Given the description of an element on the screen output the (x, y) to click on. 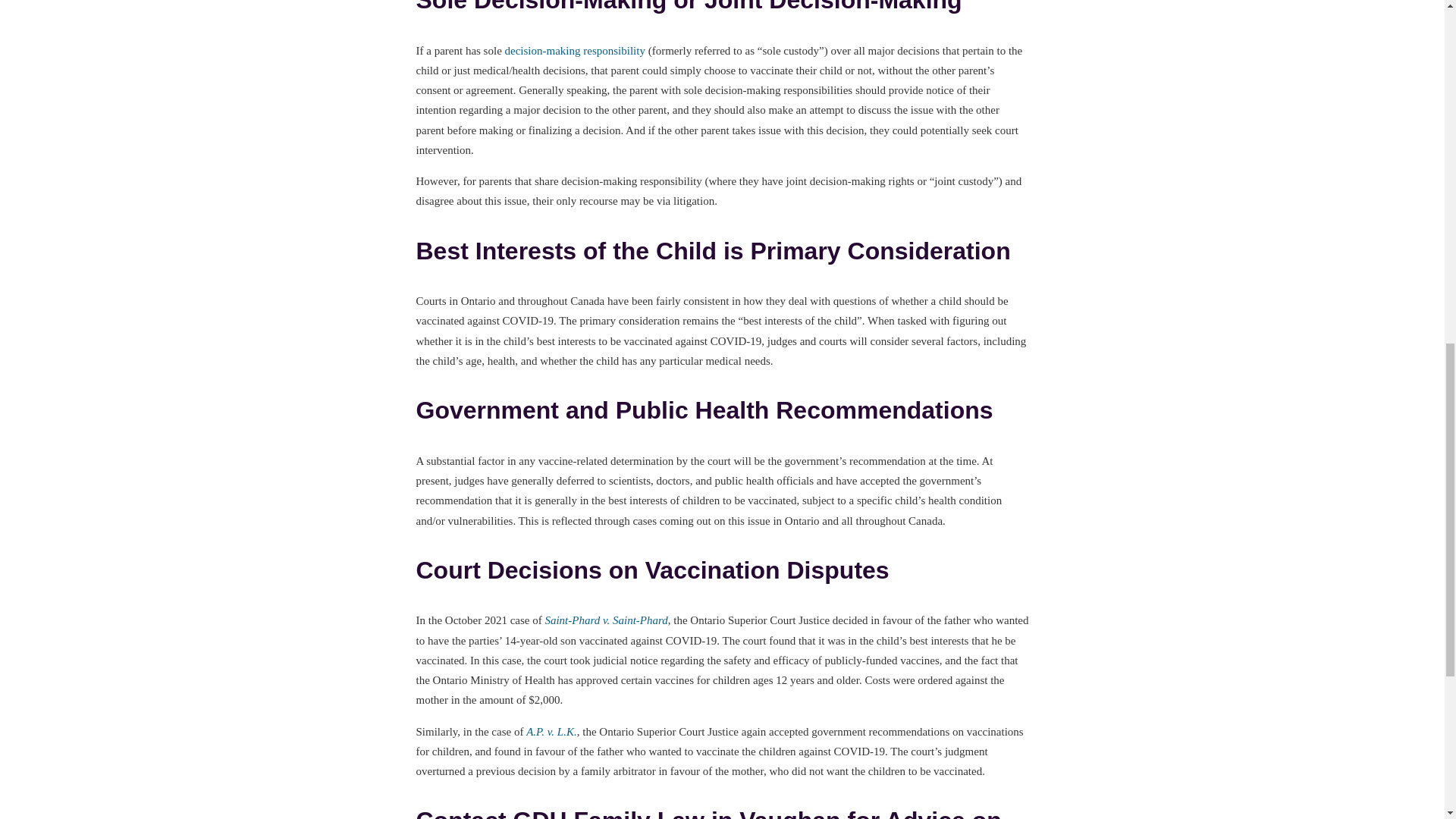
Saint-Phard v. Saint-Phard (605, 620)
A.P. v. L.K. (550, 731)
decision-making responsibility (575, 50)
